Given the description of an element on the screen output the (x, y) to click on. 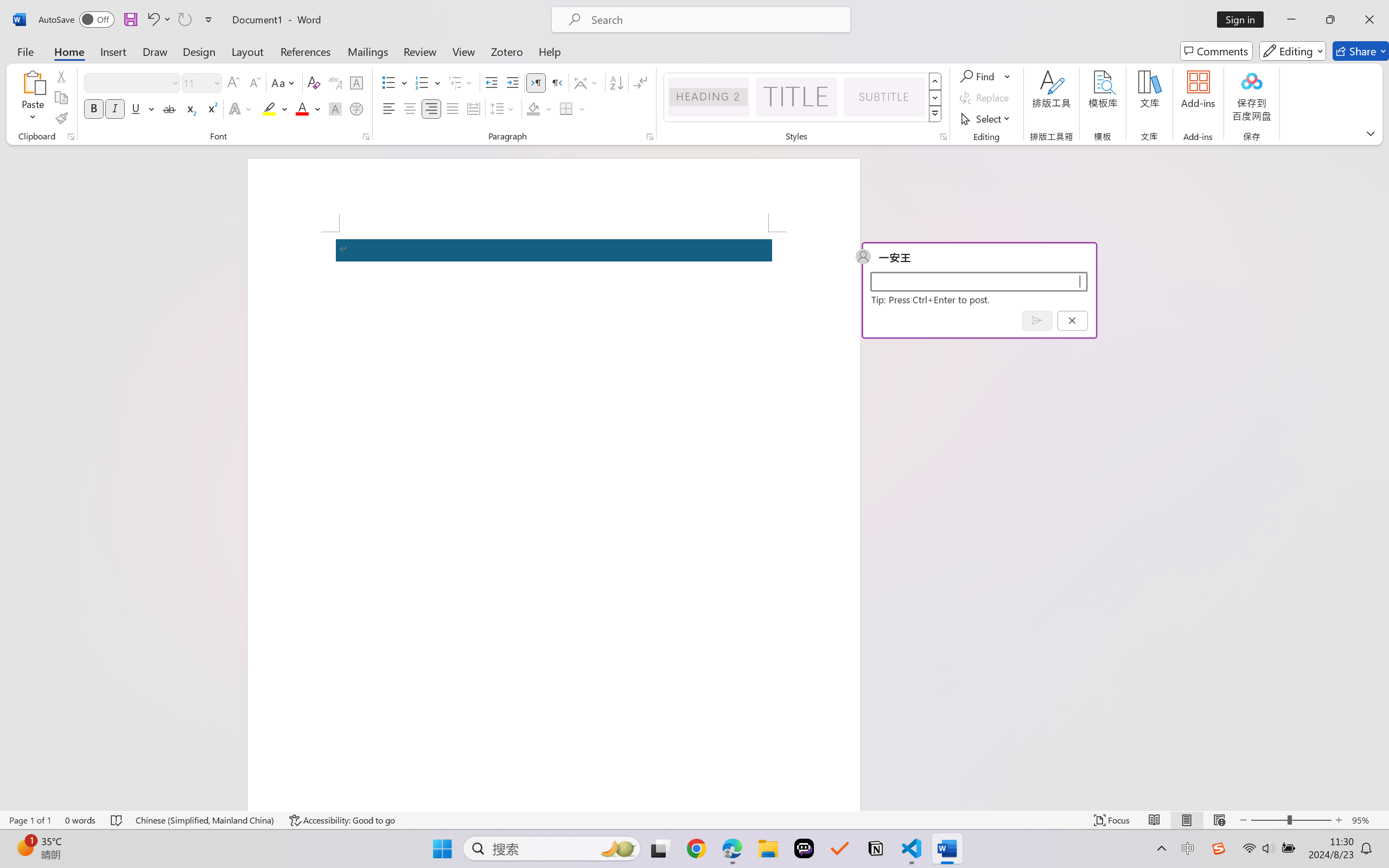
Editing (1292, 50)
Undo (152, 19)
Font Color RGB(255, 0, 0) (302, 108)
Sign in (1244, 19)
Can't Repeat (184, 19)
